Given the description of an element on the screen output the (x, y) to click on. 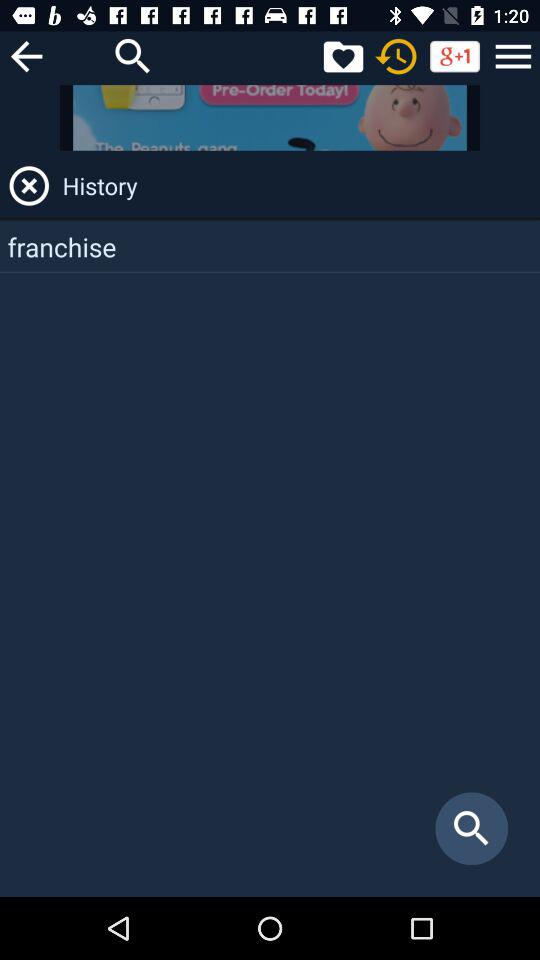
flip until history icon (298, 185)
